Given the description of an element on the screen output the (x, y) to click on. 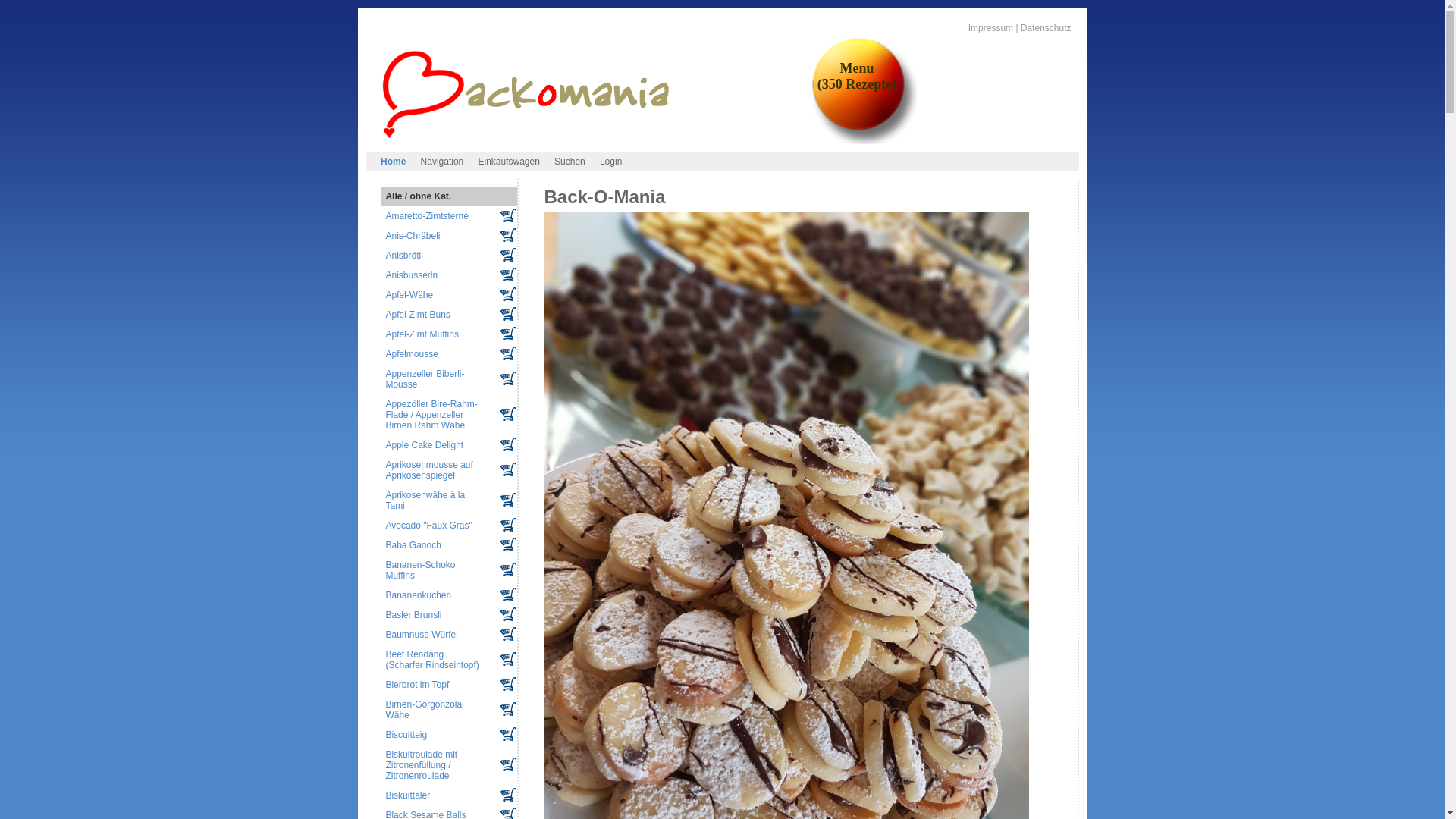
In den Einkaufswagen legen Element type: hover (508, 708)
Anisbusserln Element type: text (411, 274)
In den Einkaufswagen legen Element type: hover (508, 353)
In den Einkaufswagen legen Element type: hover (508, 313)
In den Einkaufswagen legen Element type: hover (508, 378)
Einkaufswagen Element type: text (508, 161)
In den Einkaufswagen legen Element type: hover (508, 633)
Bierbrot im Topf Element type: text (416, 684)
Apfel-Zimt Buns Element type: text (417, 314)
In den Einkaufswagen legen Element type: hover (508, 544)
In den Einkaufswagen legen Element type: hover (508, 333)
Biskuittaler Element type: text (407, 795)
In den Einkaufswagen legen Element type: hover (508, 469)
Baba Ganoch Element type: text (412, 544)
In den Einkaufswagen legen Element type: hover (508, 658)
In den Einkaufswagen legen Element type: hover (508, 274)
Apfelmousse Element type: text (411, 353)
Bananenkuchen Element type: text (418, 594)
Aprikosenmousse auf Aprikosenspiegel Element type: text (428, 469)
In den Einkaufswagen legen Element type: hover (508, 683)
In den Einkaufswagen legen Element type: hover (508, 569)
Appenzeller Biberli-Mousse Element type: text (424, 378)
In den Einkaufswagen legen Element type: hover (508, 614)
Basler Brunsli Element type: text (413, 614)
In den Einkaufswagen legen Element type: hover (508, 794)
Suchen Element type: text (569, 161)
In den Einkaufswagen legen Element type: hover (508, 234)
In den Einkaufswagen legen Element type: hover (508, 524)
In den Einkaufswagen legen Element type: hover (508, 594)
Home Element type: text (393, 161)
Amaretto-Zimtsterne Element type: text (426, 215)
Datenschutz Element type: text (1045, 27)
In den Einkaufswagen legen Element type: hover (508, 294)
Biscuitteig Element type: text (405, 734)
Menu
(350 Rezepte) Element type: text (856, 76)
In den Einkaufswagen legen Element type: hover (508, 764)
Beef Rendang (Scharfer Rindseintopf) Element type: text (431, 659)
Navigation Element type: text (441, 161)
In den Einkaufswagen legen Element type: hover (508, 254)
In den Einkaufswagen legen Element type: hover (508, 215)
In den Einkaufswagen legen Element type: hover (508, 413)
Avocado "Faux Gras" Element type: text (428, 525)
In den Einkaufswagen legen Element type: hover (508, 733)
In den Einkaufswagen legen Element type: hover (508, 444)
Apfel-Zimt Muffins Element type: text (421, 334)
Apple Cake Delight Element type: text (424, 444)
Bananen-Schoko Muffins Element type: text (420, 569)
In den Einkaufswagen legen Element type: hover (508, 499)
Login Element type: text (610, 161)
Impressum Element type: text (990, 27)
